Given the description of an element on the screen output the (x, y) to click on. 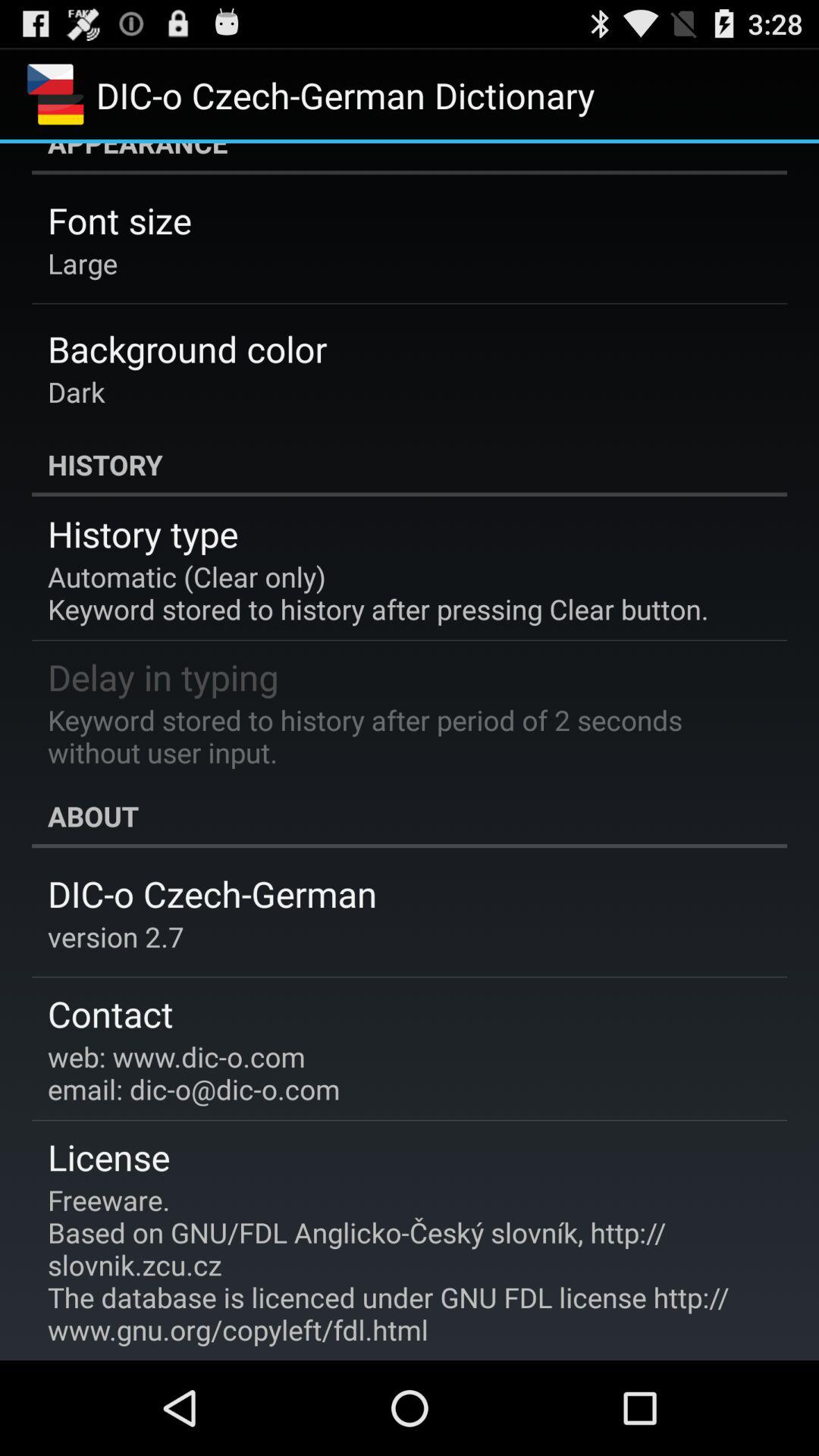
choose the license (108, 1156)
